Given the description of an element on the screen output the (x, y) to click on. 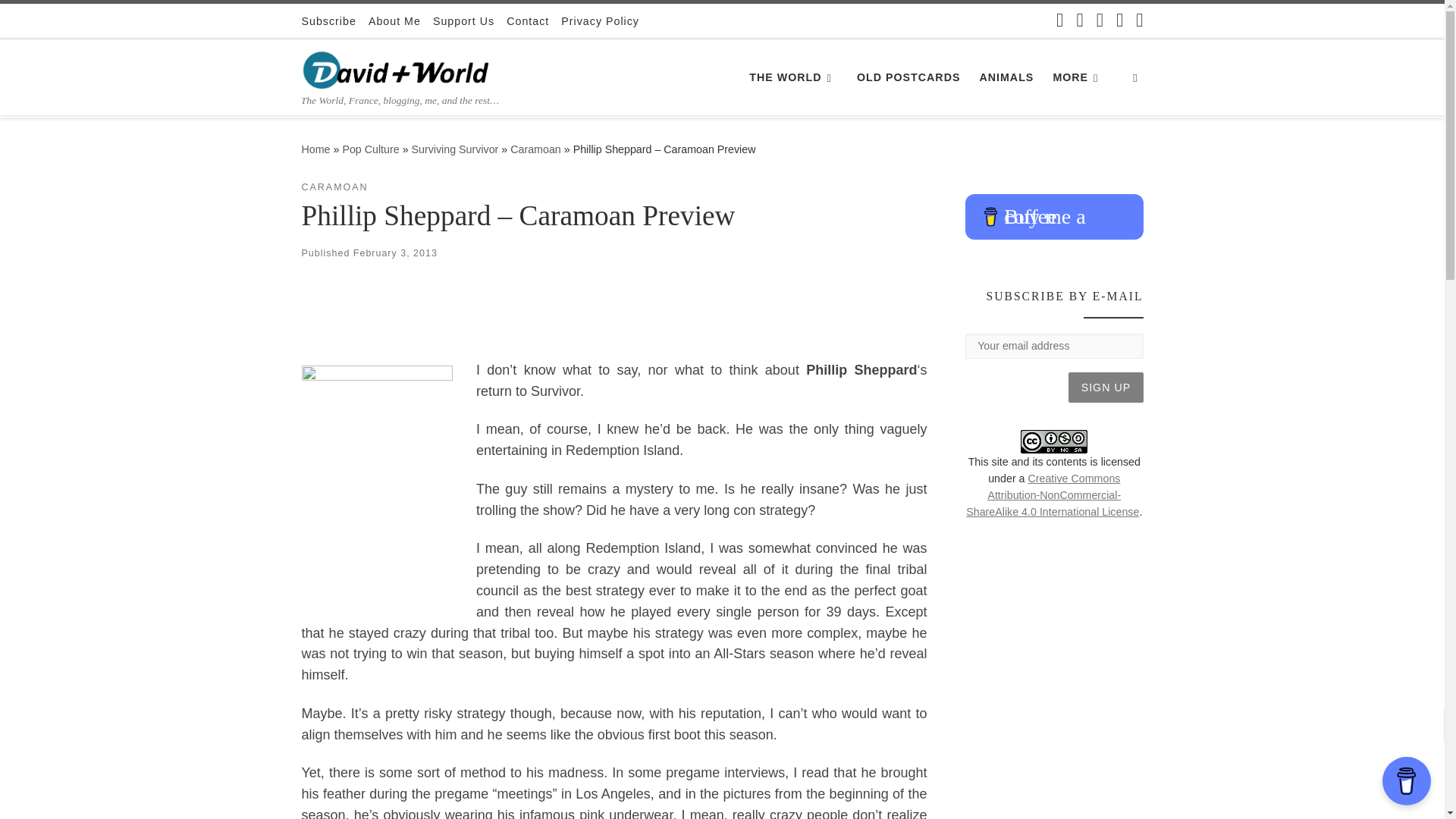
About Me (394, 21)
Caramoan (535, 149)
Surviving Survivor (455, 149)
ANIMALS (1006, 77)
Privacy Policy (599, 21)
Pop Culture (370, 149)
Sign up (1105, 387)
View all posts in Caramoan (334, 187)
THE WORLD (793, 77)
Support Us (463, 21)
MORE (1078, 77)
Skip to content (60, 20)
Contact (527, 21)
Subscribe (328, 21)
OLD POSTCARDS (908, 77)
